Given the description of an element on the screen output the (x, y) to click on. 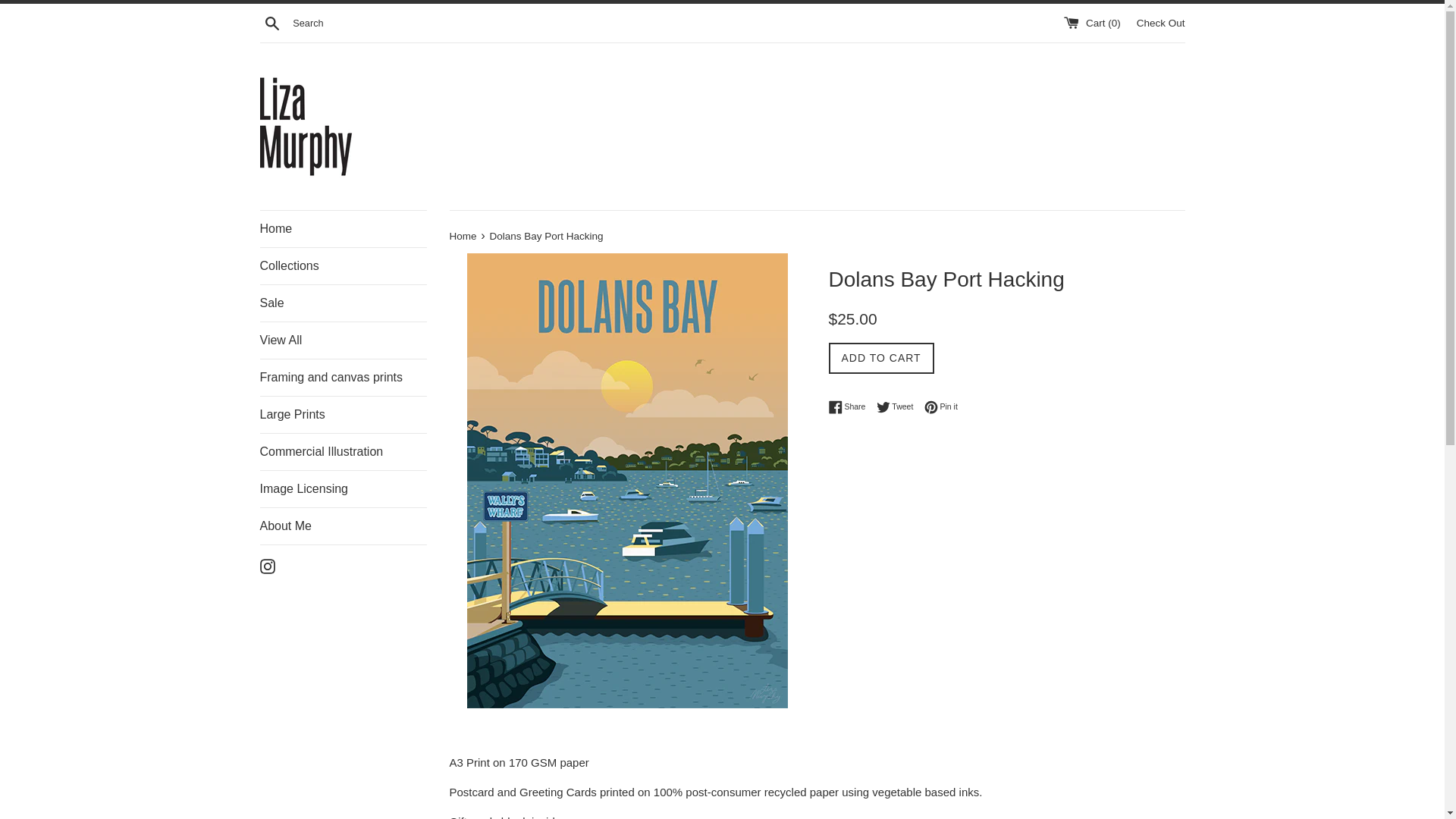
About Me Element type: text (342, 526)
Image Licensing Element type: text (342, 488)
Check Out Element type: text (1160, 22)
Sale Element type: text (342, 303)
Pin it
Pin on Pinterest Element type: text (940, 407)
Home Element type: text (342, 228)
Cart (0) Element type: text (1093, 22)
Instagram Element type: text (266, 564)
View All Element type: text (342, 340)
Tweet
Tweet on Twitter Element type: text (898, 407)
Framing and canvas prints Element type: text (342, 377)
ADD TO CART Element type: text (880, 357)
Commercial Illustration Element type: text (342, 451)
Home Element type: text (463, 235)
Search Element type: text (271, 21)
Large Prints Element type: text (342, 414)
Share
Share on Facebook Element type: text (850, 407)
Collections Element type: text (342, 265)
